Given the description of an element on the screen output the (x, y) to click on. 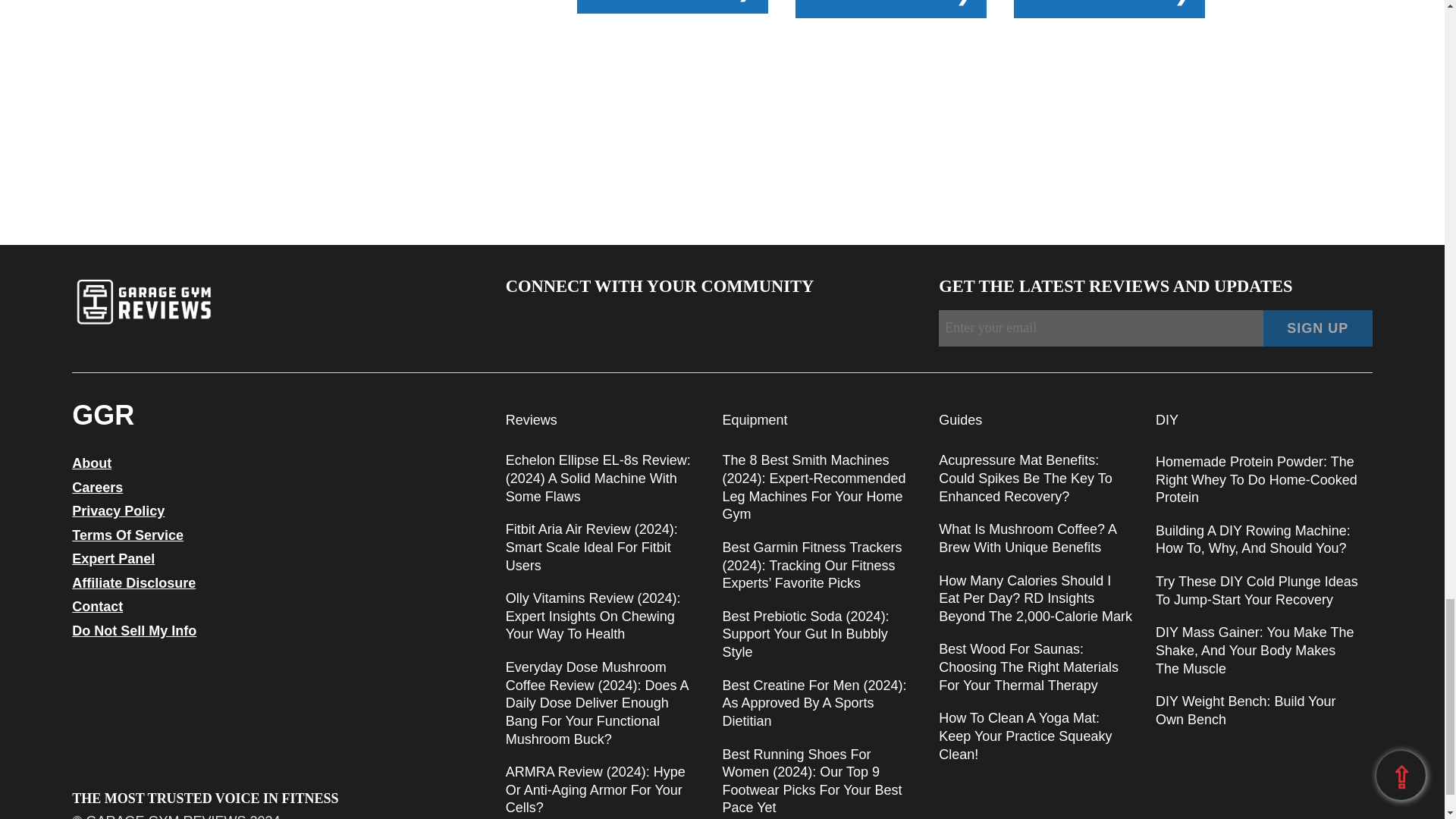
Sign Up (1318, 328)
Reviews (531, 419)
Equipment (754, 419)
